Given the description of an element on the screen output the (x, y) to click on. 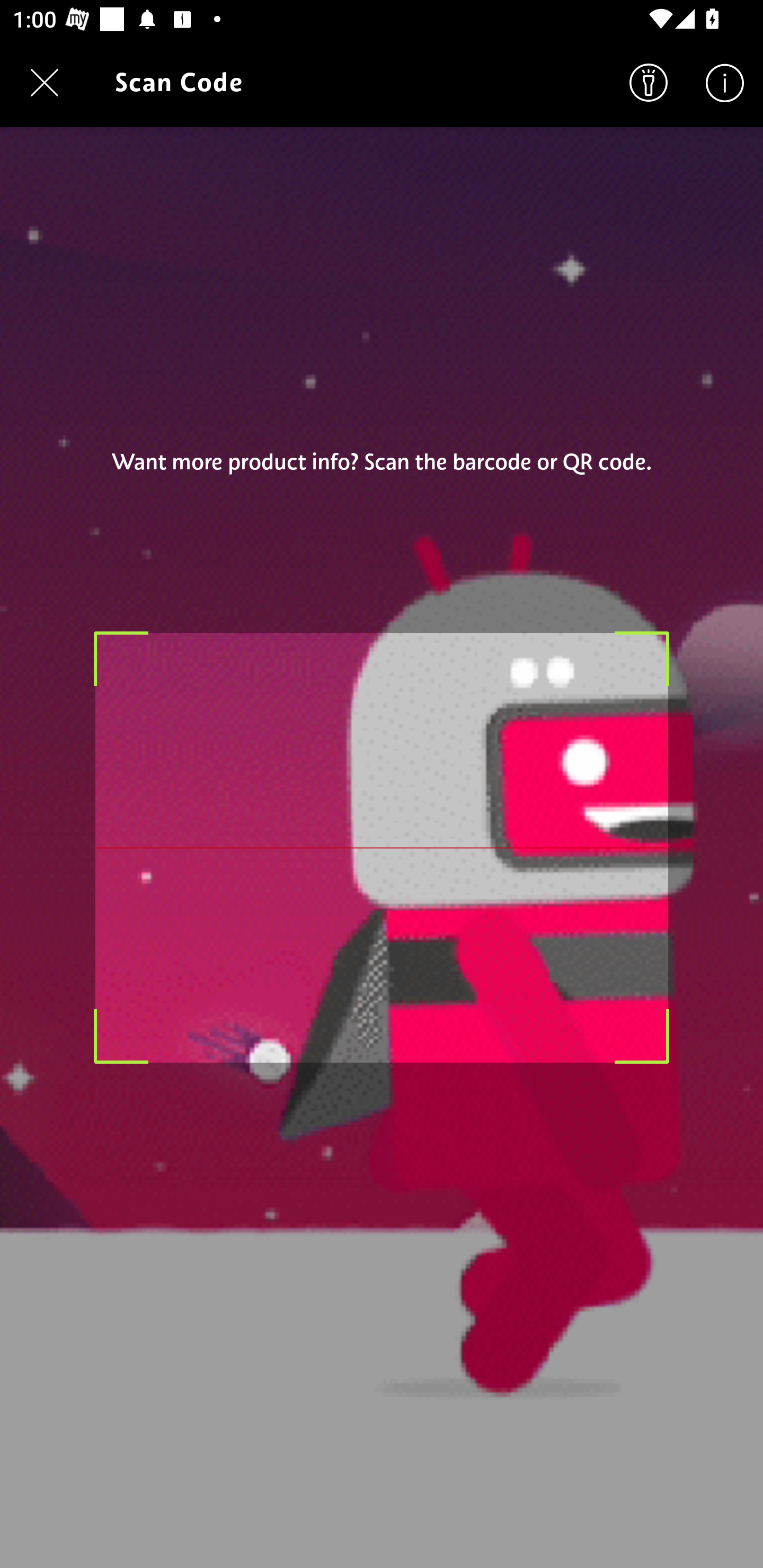
Navigate up (44, 82)
Search (648, 81)
Help (724, 81)
